Given the description of an element on the screen output the (x, y) to click on. 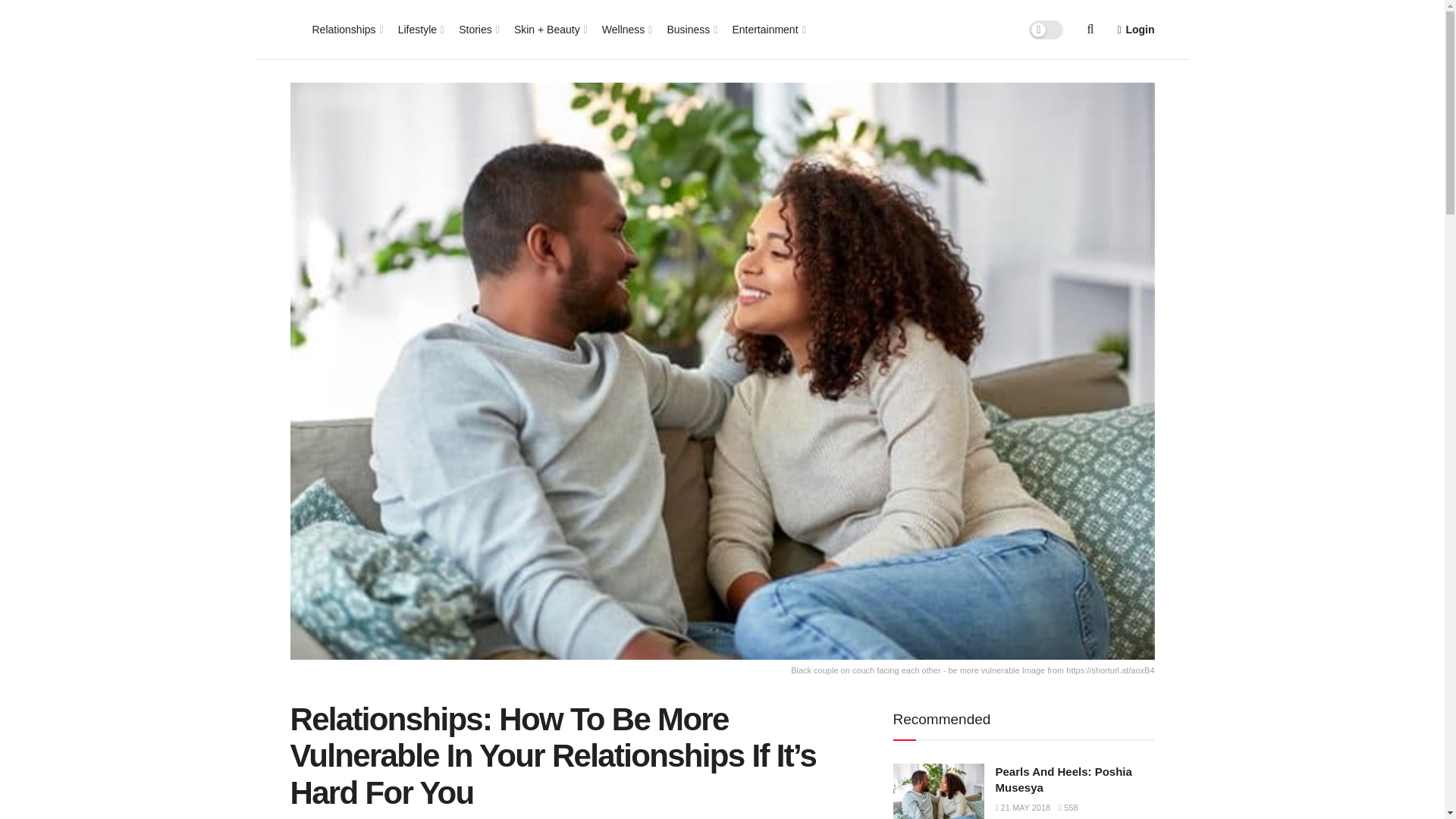
Stories (477, 29)
Business (690, 29)
Relationships (347, 29)
Lifestyle (419, 29)
Wellness (626, 29)
Entertainment (767, 29)
